Given the description of an element on the screen output the (x, y) to click on. 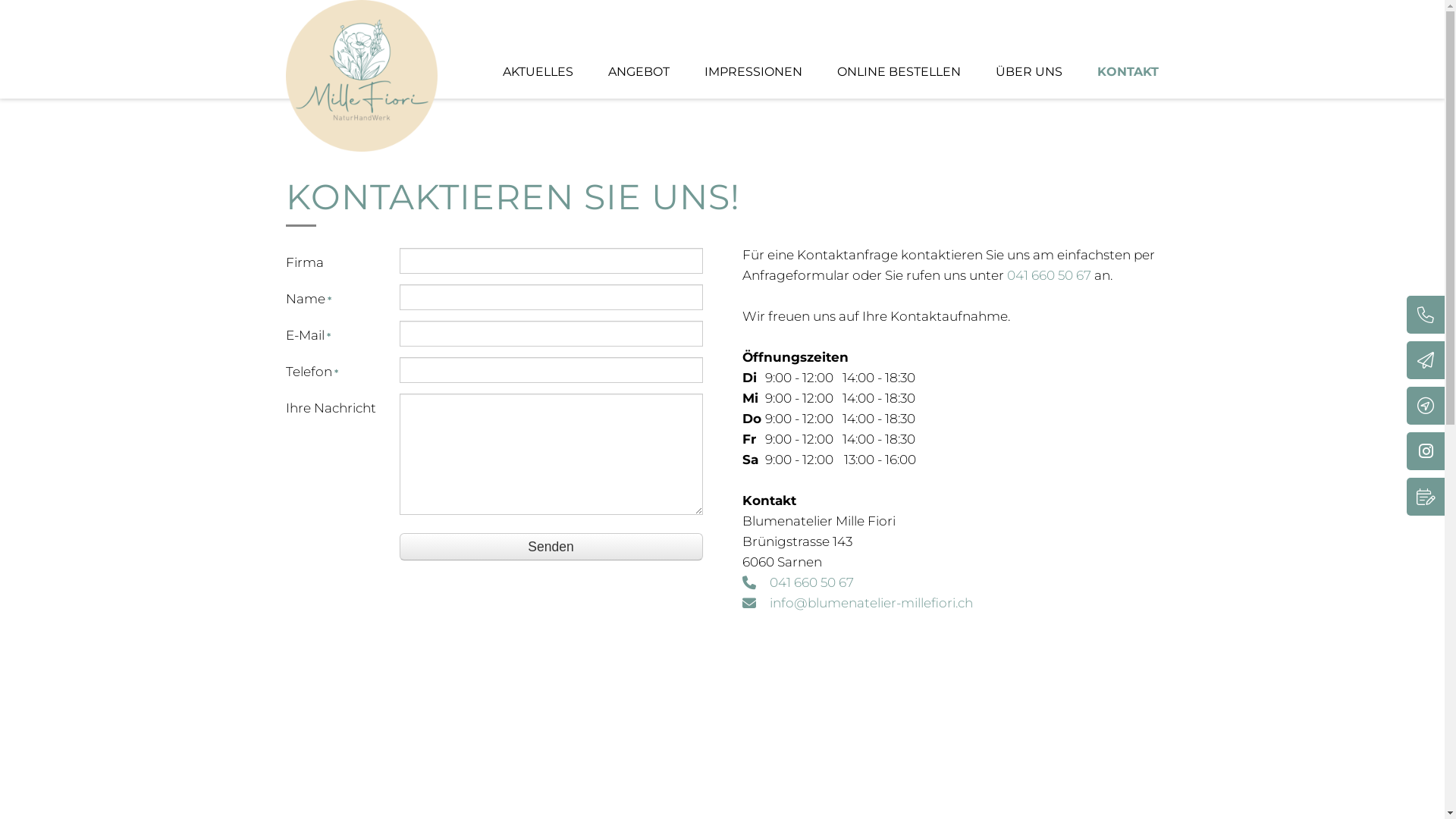
KONTAKT Element type: text (1126, 71)
041 660 50 67 Element type: text (810, 581)
ONLINE BESTELLEN Element type: text (898, 71)
Senden Element type: text (550, 546)
041 660 50 67 Element type: text (1049, 274)
info@blumenatelier-millefiori.ch Element type: text (870, 602)
AKTUELLES Element type: text (537, 71)
IMPRESSIONEN Element type: text (752, 71)
ANGEBOT Element type: text (638, 71)
